Given the description of an element on the screen output the (x, y) to click on. 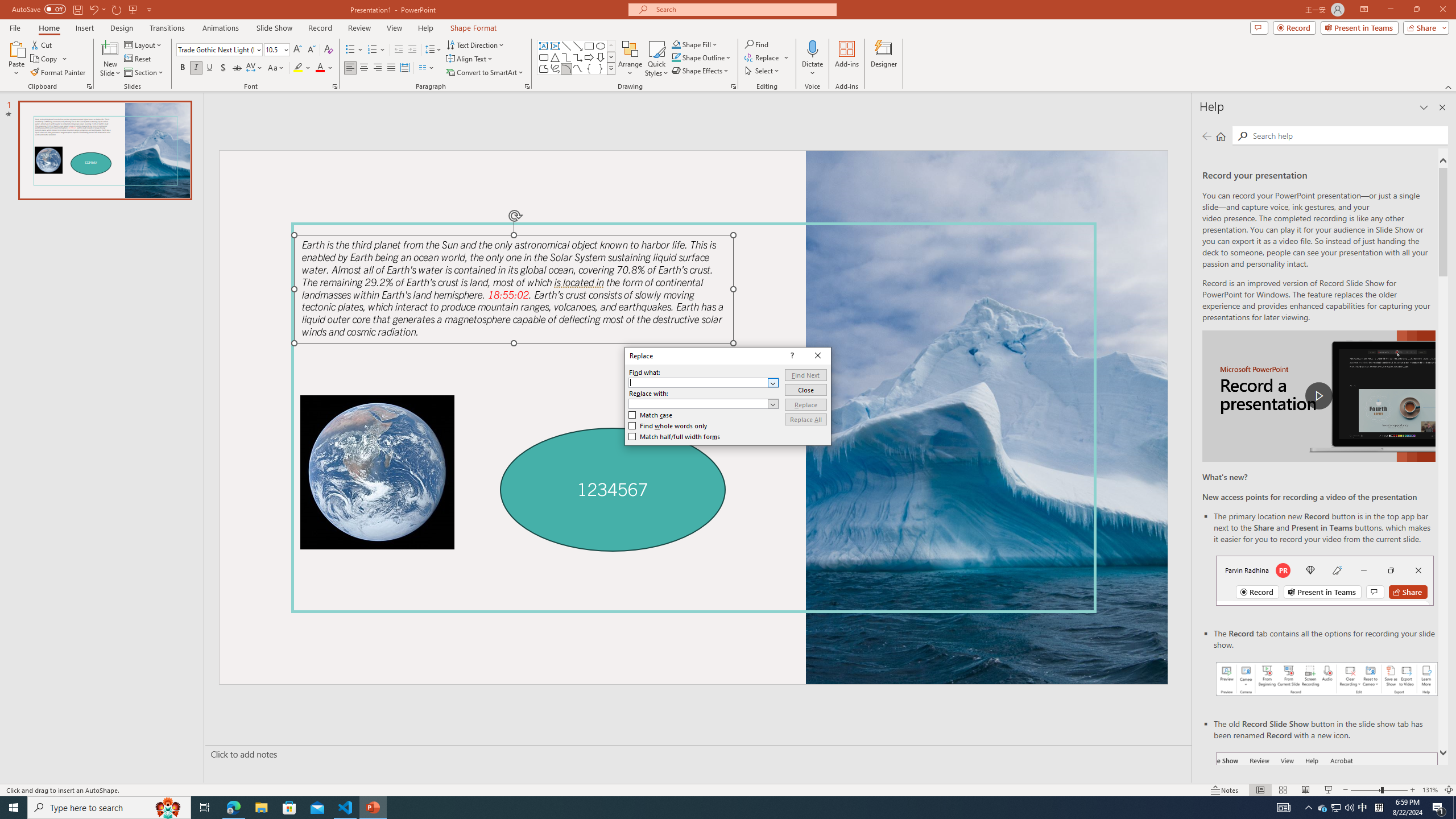
Select (762, 69)
Freeform: Shape (543, 68)
Increase Font Size (297, 49)
Paragraph... (526, 85)
Format Object... (733, 85)
Find Next (805, 374)
Task View (204, 807)
Line Arrow (577, 45)
Vertical Text Box (554, 45)
Shape Outline Teal, Accent 1 (675, 56)
